Given the description of an element on the screen output the (x, y) to click on. 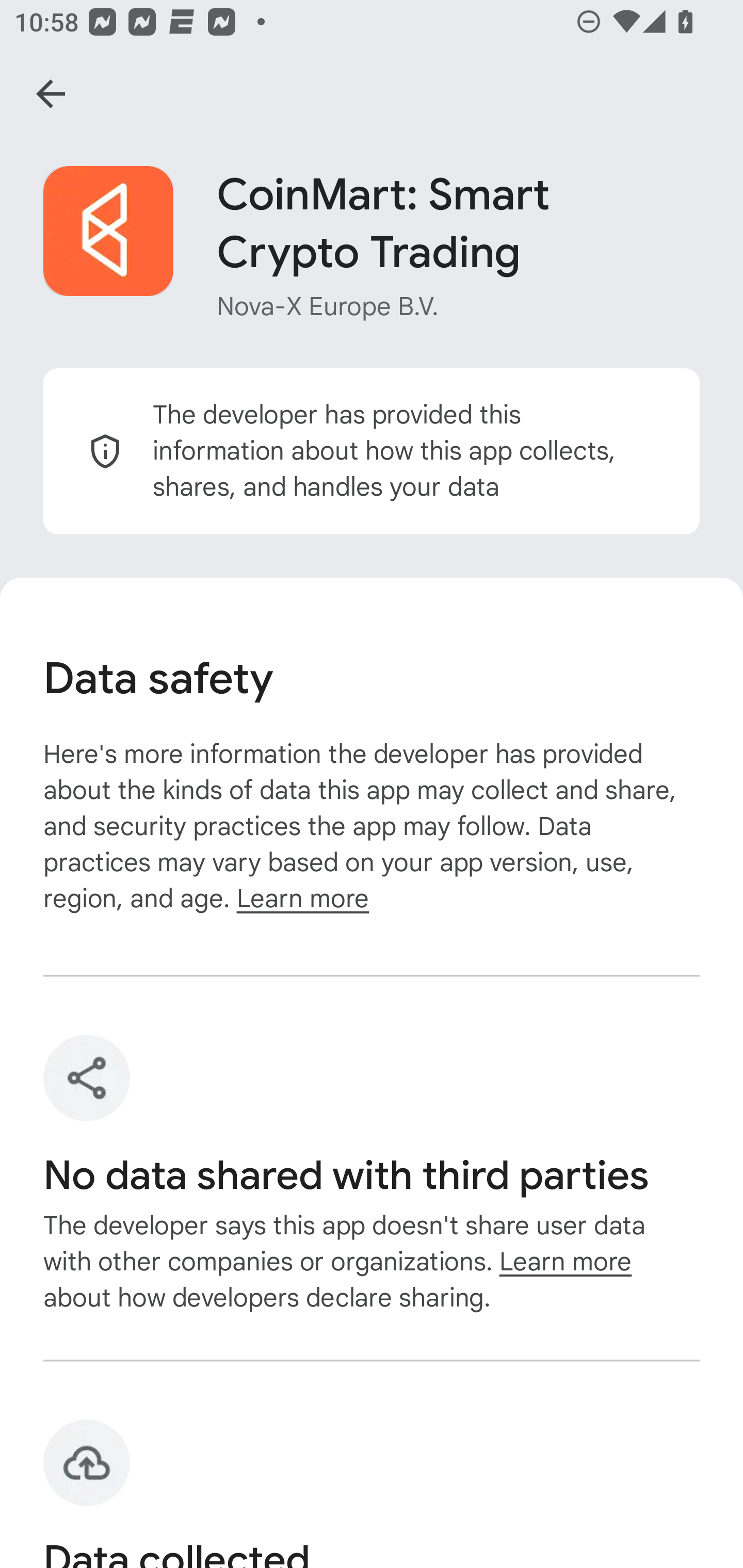
Navigate up (50, 93)
